Given the description of an element on the screen output the (x, y) to click on. 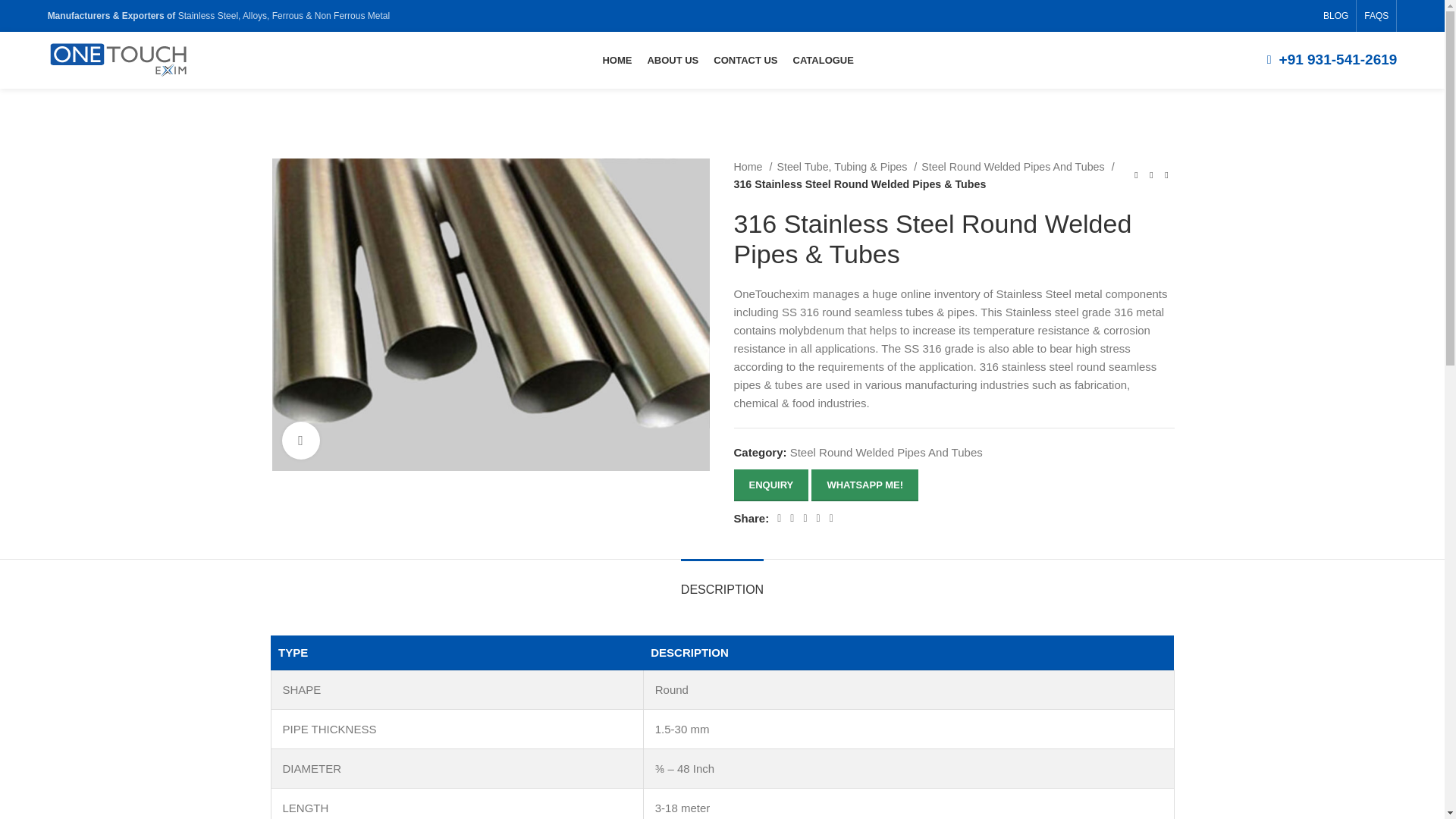
Steel Round Welded Pipes And Tubes (1017, 167)
DESCRIPTION (721, 581)
Enquiry (771, 485)
WHATSAPP ME! (864, 485)
HOME (616, 60)
Steel Round Welded Pipes And Tubes (886, 451)
CATALOGUE (823, 60)
WHATSAPP ME! (864, 483)
CONTACT US (745, 60)
ABOUT US (672, 60)
